Given the description of an element on the screen output the (x, y) to click on. 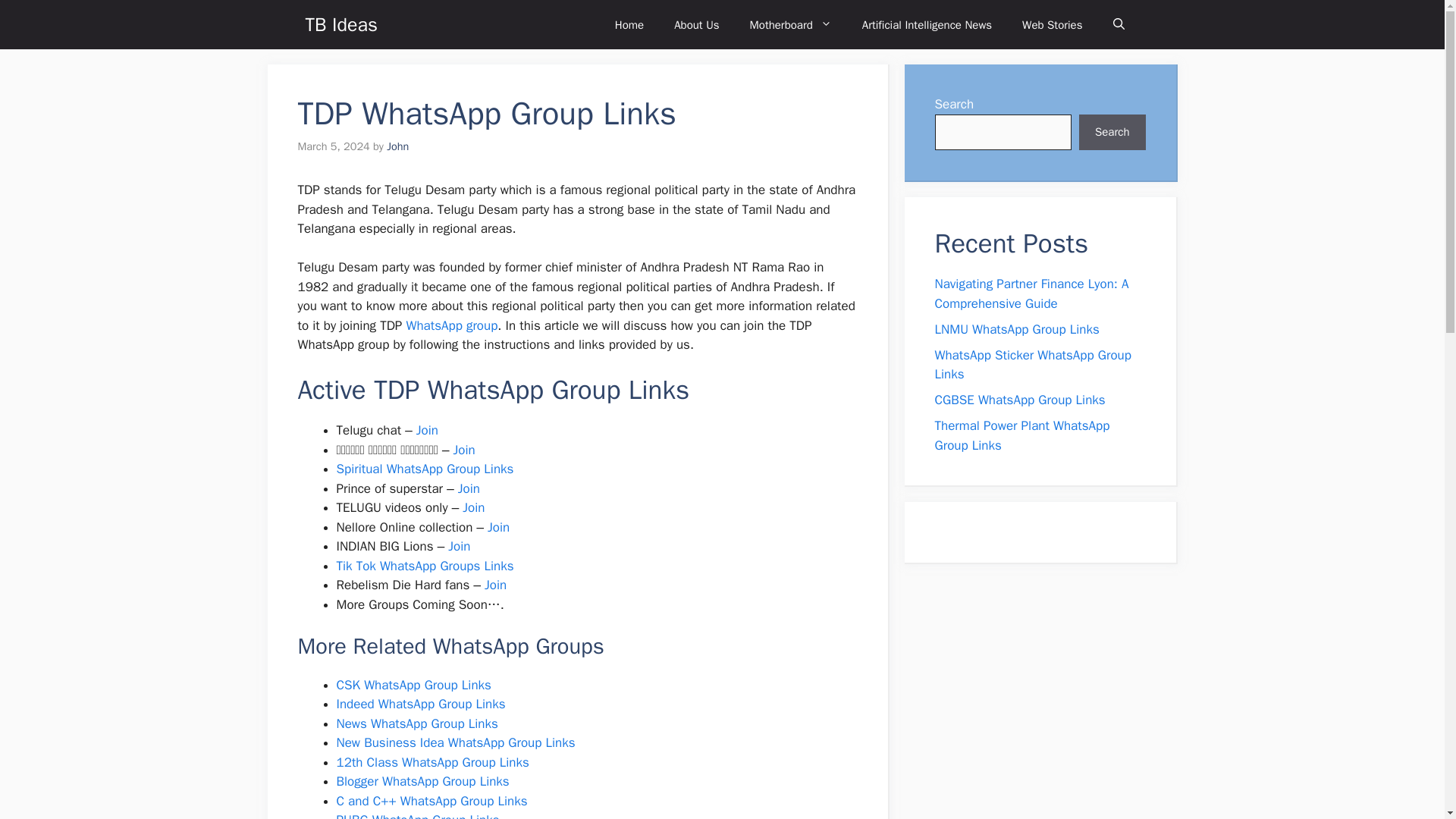
Tik Tok WhatsApp Groups Links (424, 565)
Motherboard (791, 23)
New Business Idea WhatsApp Group Links (455, 742)
Navigating Partner Finance Lyon: A Comprehensive Guide (1031, 294)
CSK WhatsApp Group Links (414, 684)
CGBSE WhatsApp Group Links (1019, 399)
WhatsApp group (451, 325)
Spiritual WhatsApp Group Links (424, 468)
TB Ideas (340, 24)
Blogger WhatsApp Group Links (422, 781)
Web Stories (1052, 23)
Join (459, 546)
View all posts by John (398, 146)
John (398, 146)
Artificial Intelligence News (927, 23)
